Given the description of an element on the screen output the (x, y) to click on. 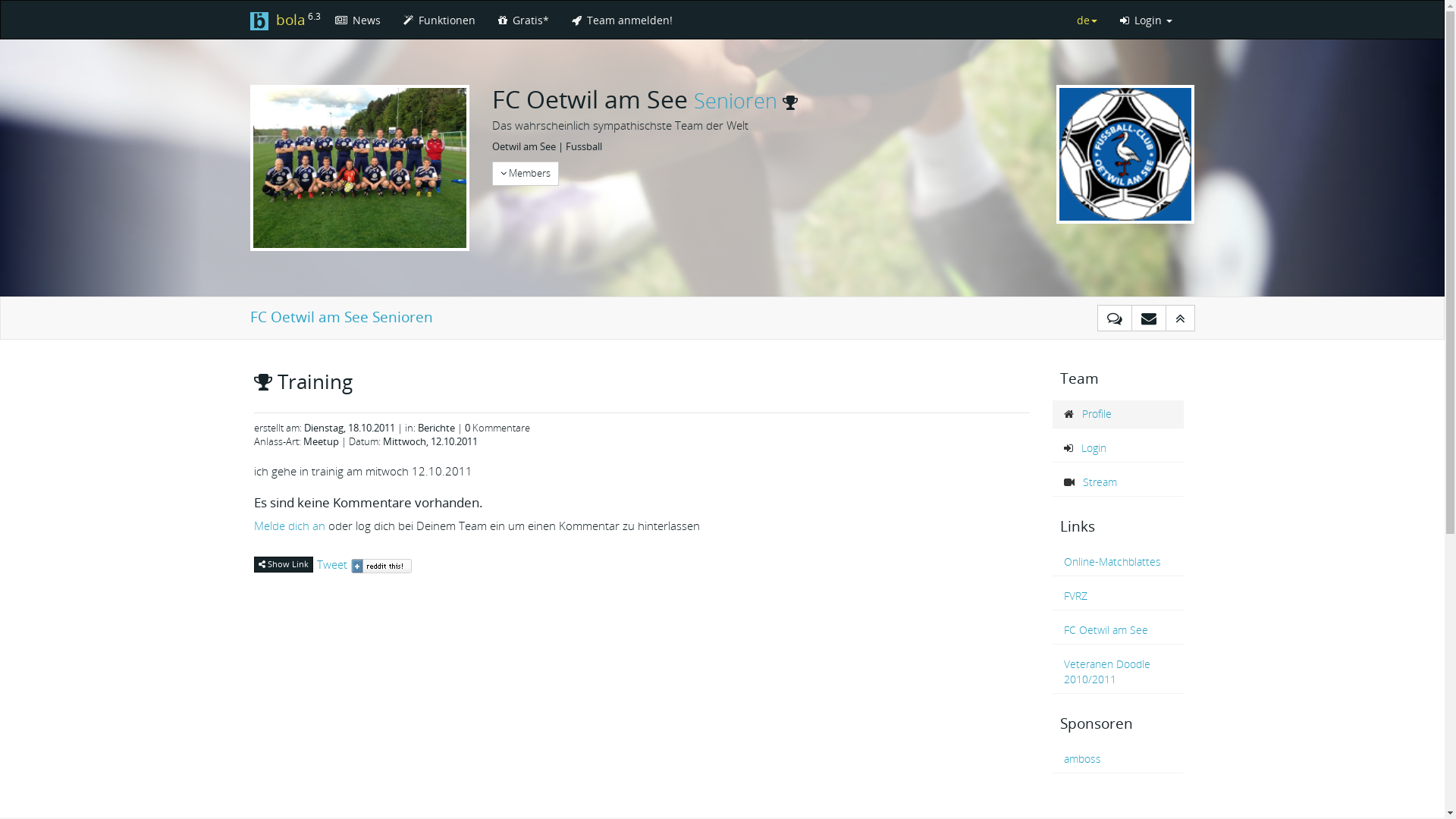
Show Link Element type: text (282, 564)
Login Element type: text (1145, 19)
Members Element type: text (524, 173)
FVRZ Element type: text (1118, 595)
News Element type: text (357, 19)
de Element type: text (1085, 19)
Melde dich an Element type: text (288, 525)
Veteranen Doodle 2010/2011 Element type: text (1118, 671)
   6.3
bola Element type: text (279, 19)
A Bola Professional Team Element type: hover (789, 100)
Profile Element type: text (1118, 413)
teampic Element type: hover (359, 167)
amboss Element type: text (1118, 758)
FC Oetwil am See Element type: text (1118, 629)
Team anmelden! Element type: text (621, 19)
Online-Matchblattes Element type: text (1118, 561)
E-Mail this team Element type: hover (1148, 317)
Show/hide team details Element type: hover (1179, 317)
accountpic Element type: hover (1125, 153)
Funktionen Element type: text (438, 19)
Tweet Element type: text (331, 563)
Login Element type: text (1118, 447)
Stream Element type: text (1118, 481)
Team Chat Element type: hover (1113, 317)
Gratis* Element type: text (523, 19)
